Given the description of an element on the screen output the (x, y) to click on. 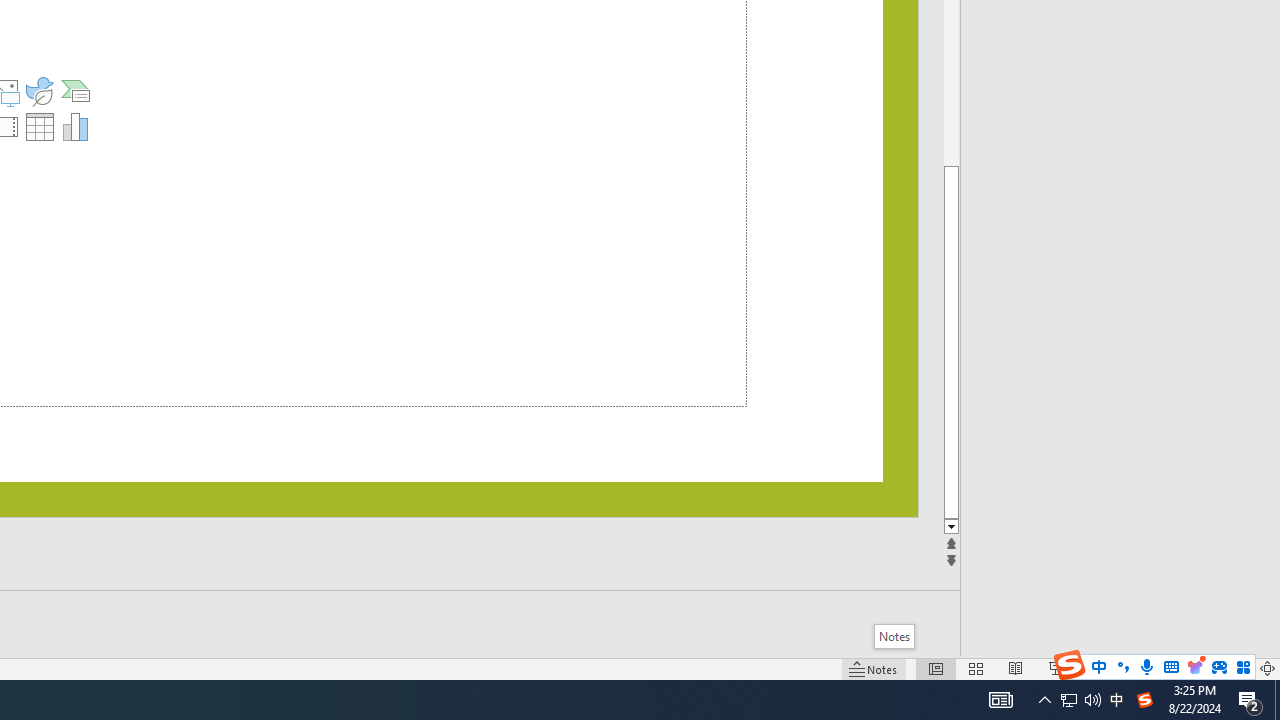
Zoom 140% (1234, 668)
Notes (894, 636)
